Given the description of an element on the screen output the (x, y) to click on. 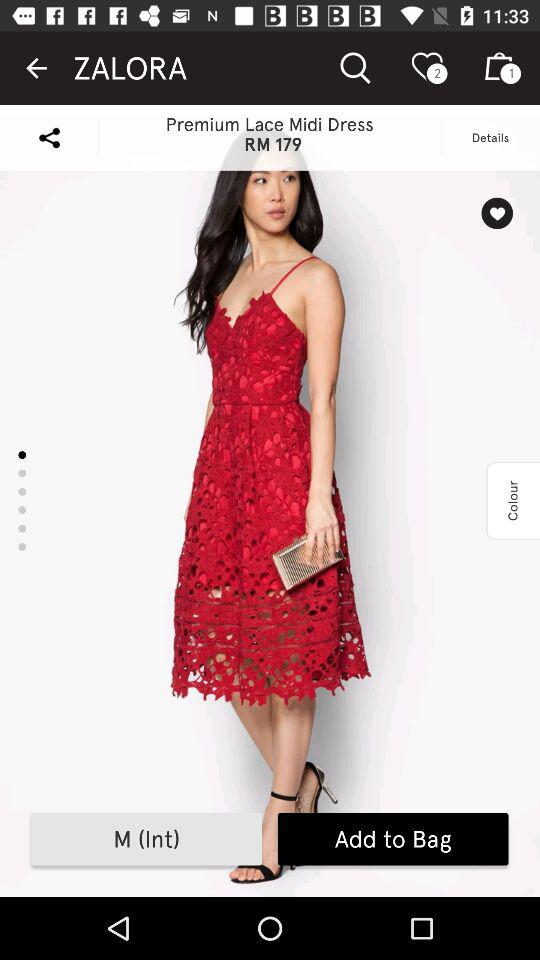
flip until the m (int) item (146, 839)
